Given the description of an element on the screen output the (x, y) to click on. 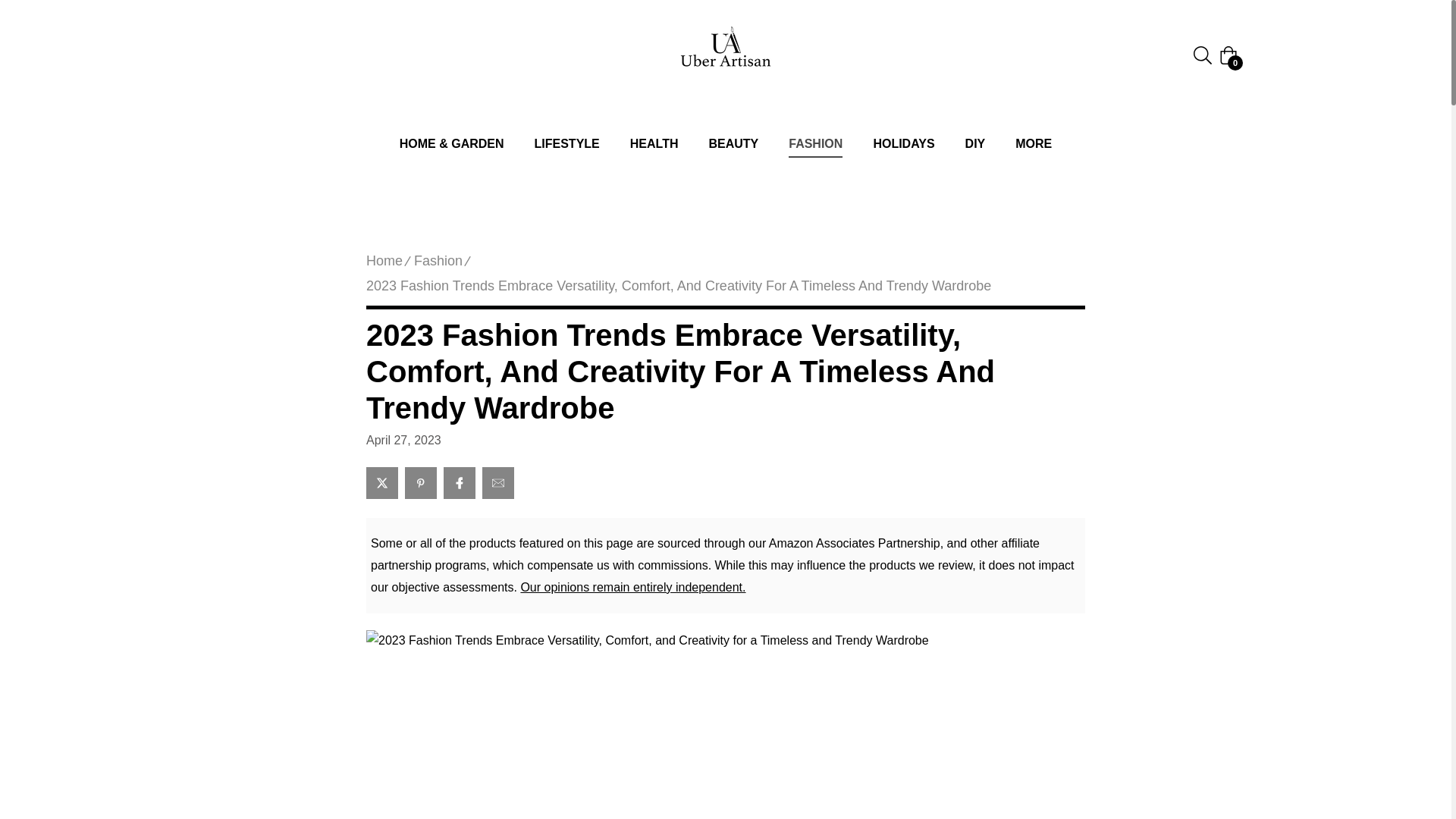
FASHION (815, 144)
HOLIDAYS (903, 144)
HEALTH (654, 144)
Shopping Cart (1228, 54)
BEAUTY (733, 144)
Fashion (438, 260)
Home (384, 260)
LIFESTYLE (566, 144)
